Given the description of an element on the screen output the (x, y) to click on. 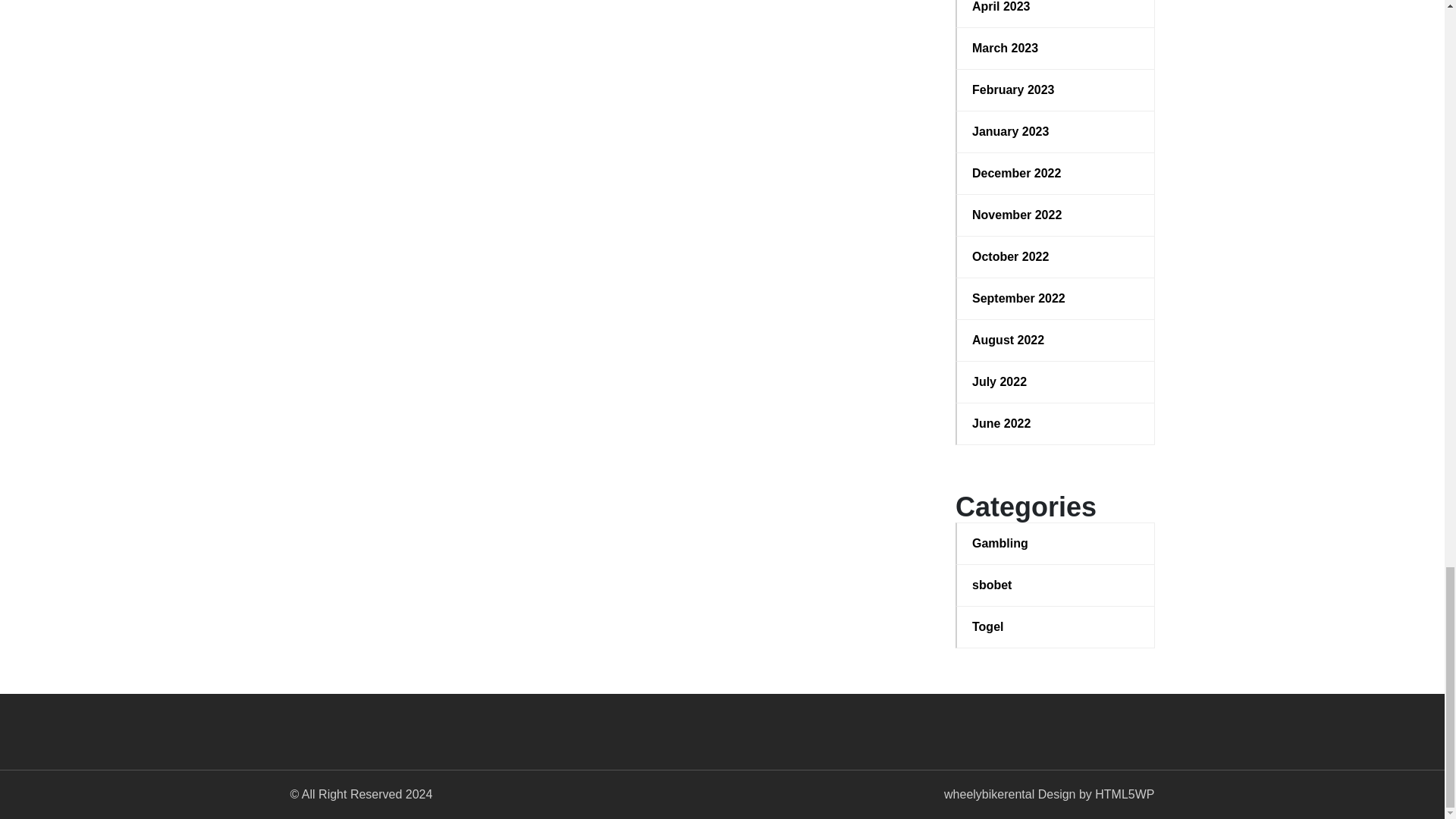
January 2023 (1055, 131)
December 2022 (1055, 173)
March 2023 (1055, 48)
April 2023 (1055, 7)
November 2022 (1055, 215)
February 2023 (1055, 90)
